Given the description of an element on the screen output the (x, y) to click on. 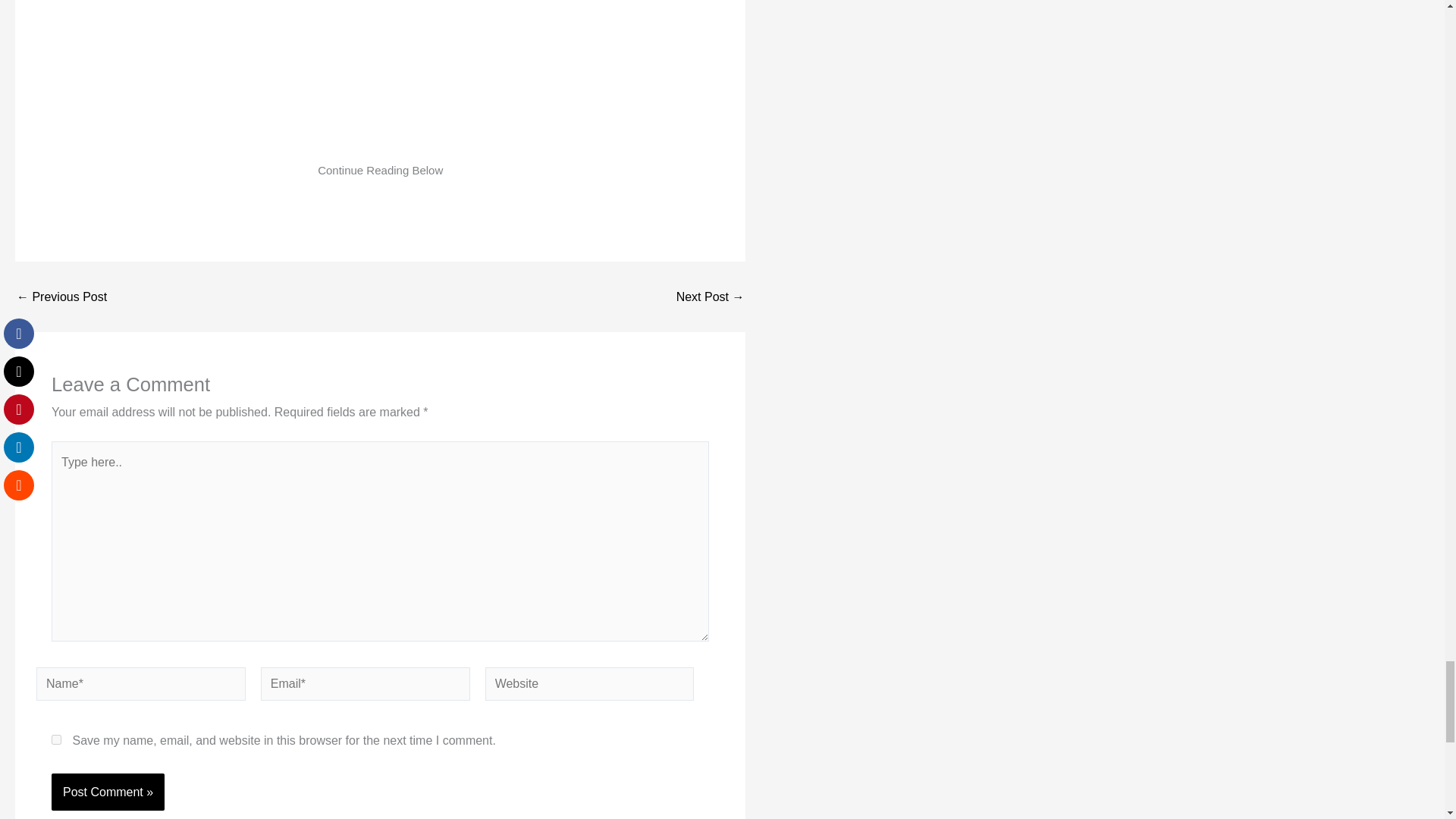
yes (55, 739)
2023 Legion Sports Fest Pro Results and Live Updates (710, 297)
